Given the description of an element on the screen output the (x, y) to click on. 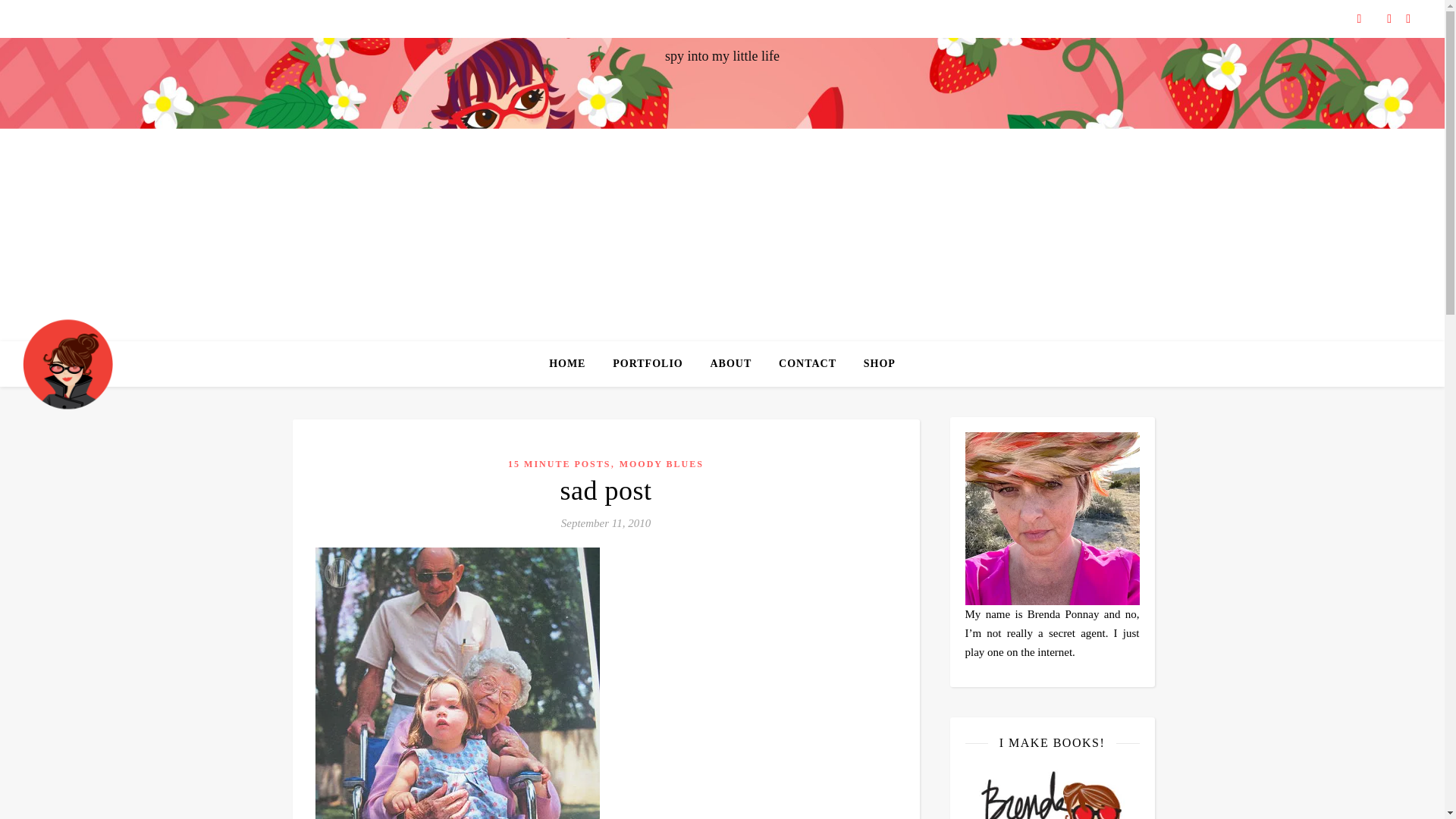
HOME (572, 363)
CONTACT (807, 363)
MOODY BLUES (661, 463)
sad post (604, 490)
PORTFOLIO (647, 363)
15 MINUTE POSTS (559, 463)
ABOUT (729, 363)
SHOP (873, 363)
Secret Agent Josephine (68, 363)
